Given the description of an element on the screen output the (x, y) to click on. 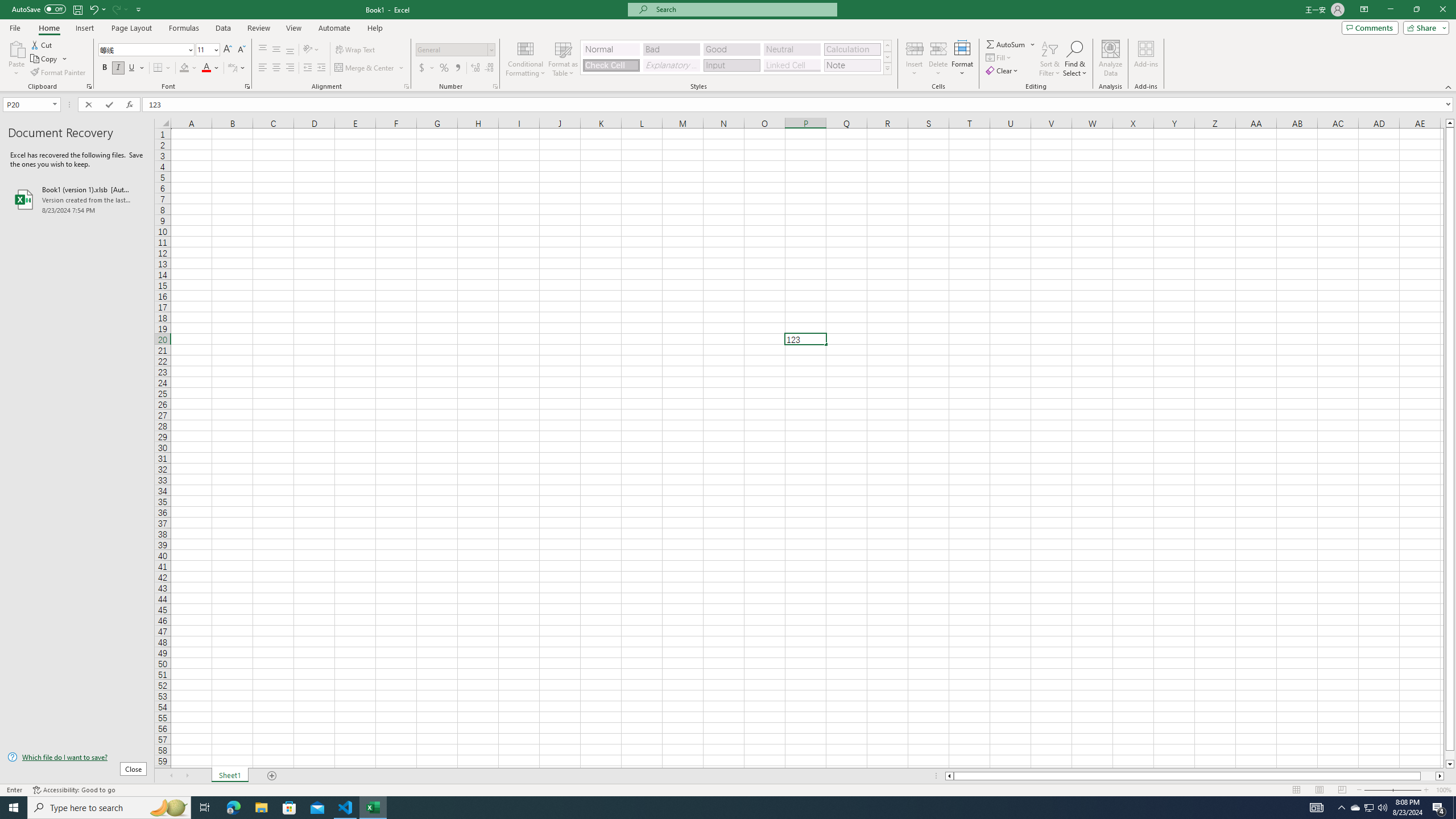
Fill (999, 56)
Increase Decimal (474, 67)
Delete (938, 58)
Format Painter (58, 72)
Accounting Number Format (422, 67)
Wrap Text (355, 49)
Redo (119, 9)
Middle Align (276, 49)
Quick Access Toolbar (77, 9)
Show Phonetic Field (236, 67)
Sort & Filter (1049, 58)
Good (731, 49)
Percent Style (443, 67)
Find & Select (1075, 58)
Book1 (version 1).xlsb  [AutoRecovered] (77, 199)
